Given the description of an element on the screen output the (x, y) to click on. 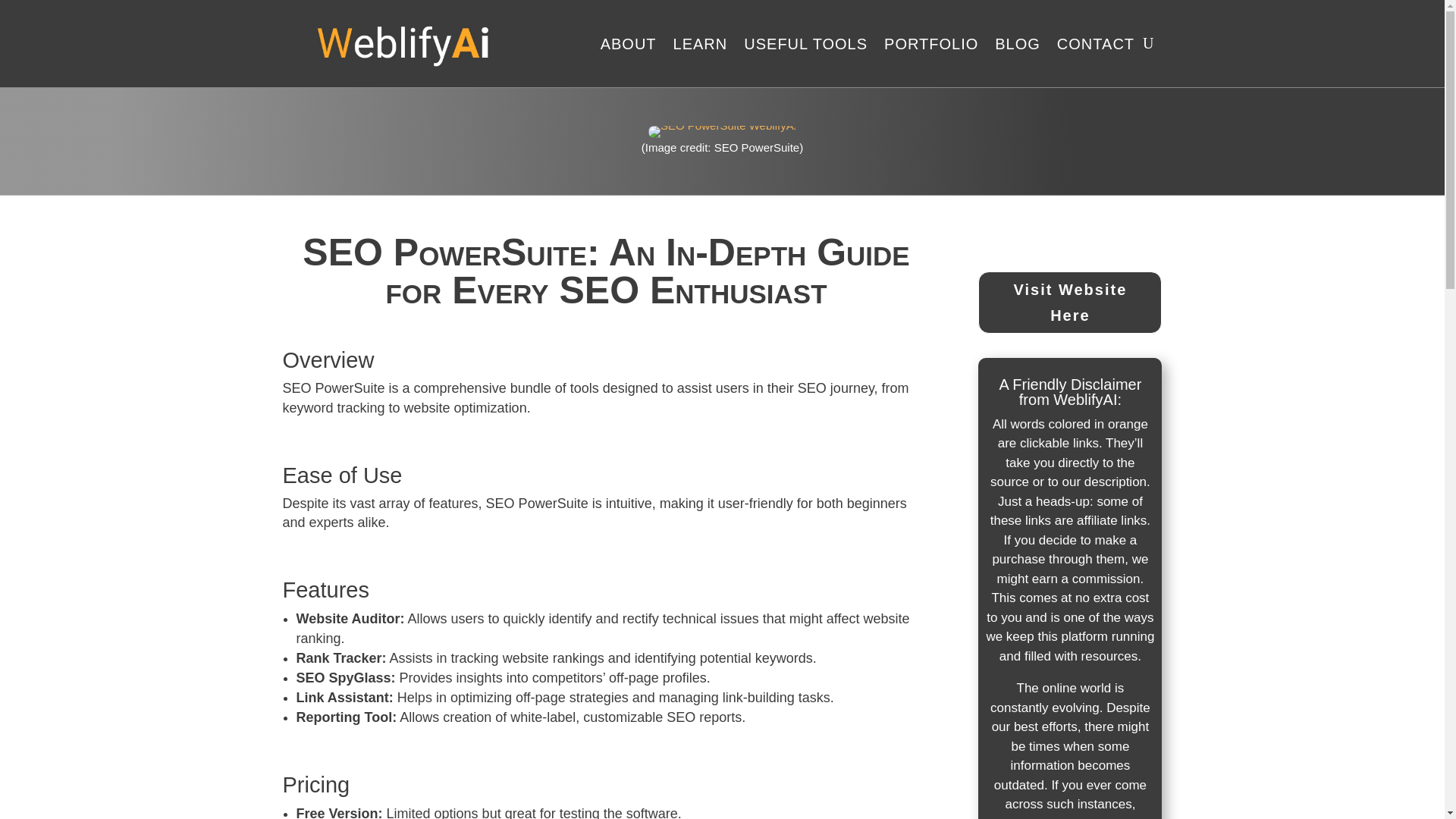
Visit Website Here (1069, 302)
USEFUL TOOLS (805, 43)
SEO PowerSuite WeblifyAi (721, 132)
PORTFOLIO (930, 43)
CONTACT (1095, 43)
